Given the description of an element on the screen output the (x, y) to click on. 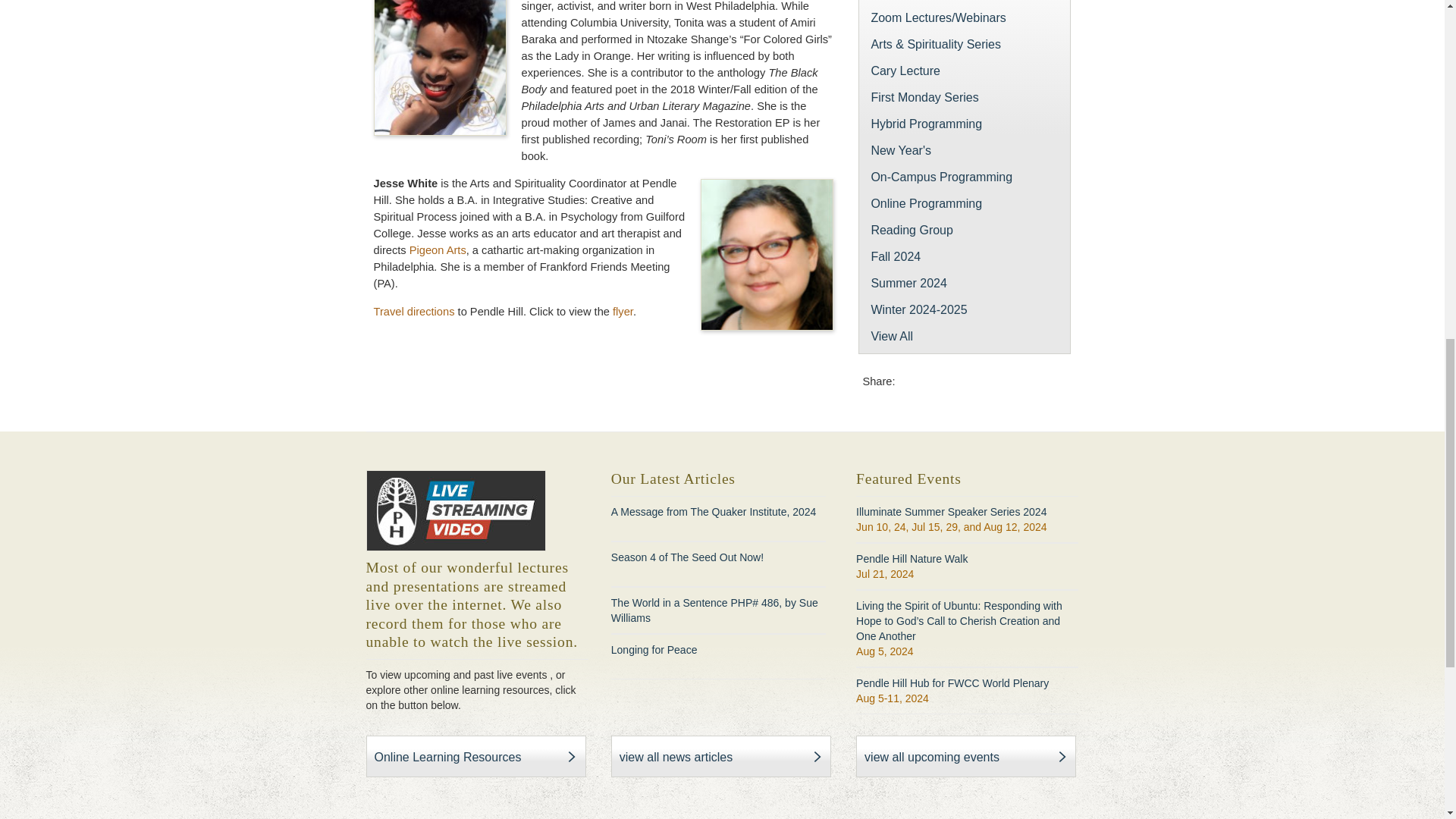
Tonita Austin (438, 68)
